Given the description of an element on the screen output the (x, y) to click on. 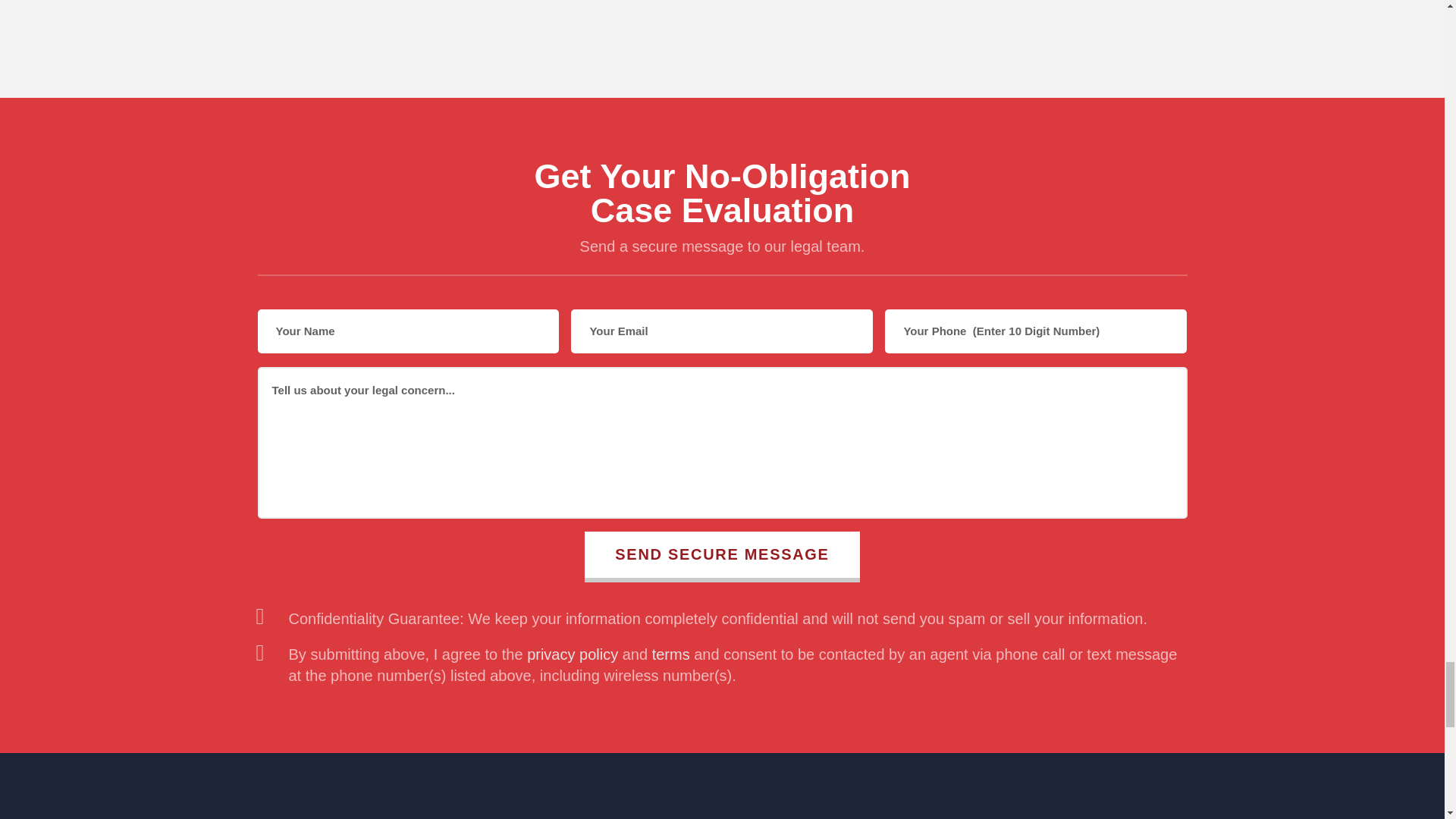
SEND SECURE MESSAGE (722, 556)
